Given the description of an element on the screen output the (x, y) to click on. 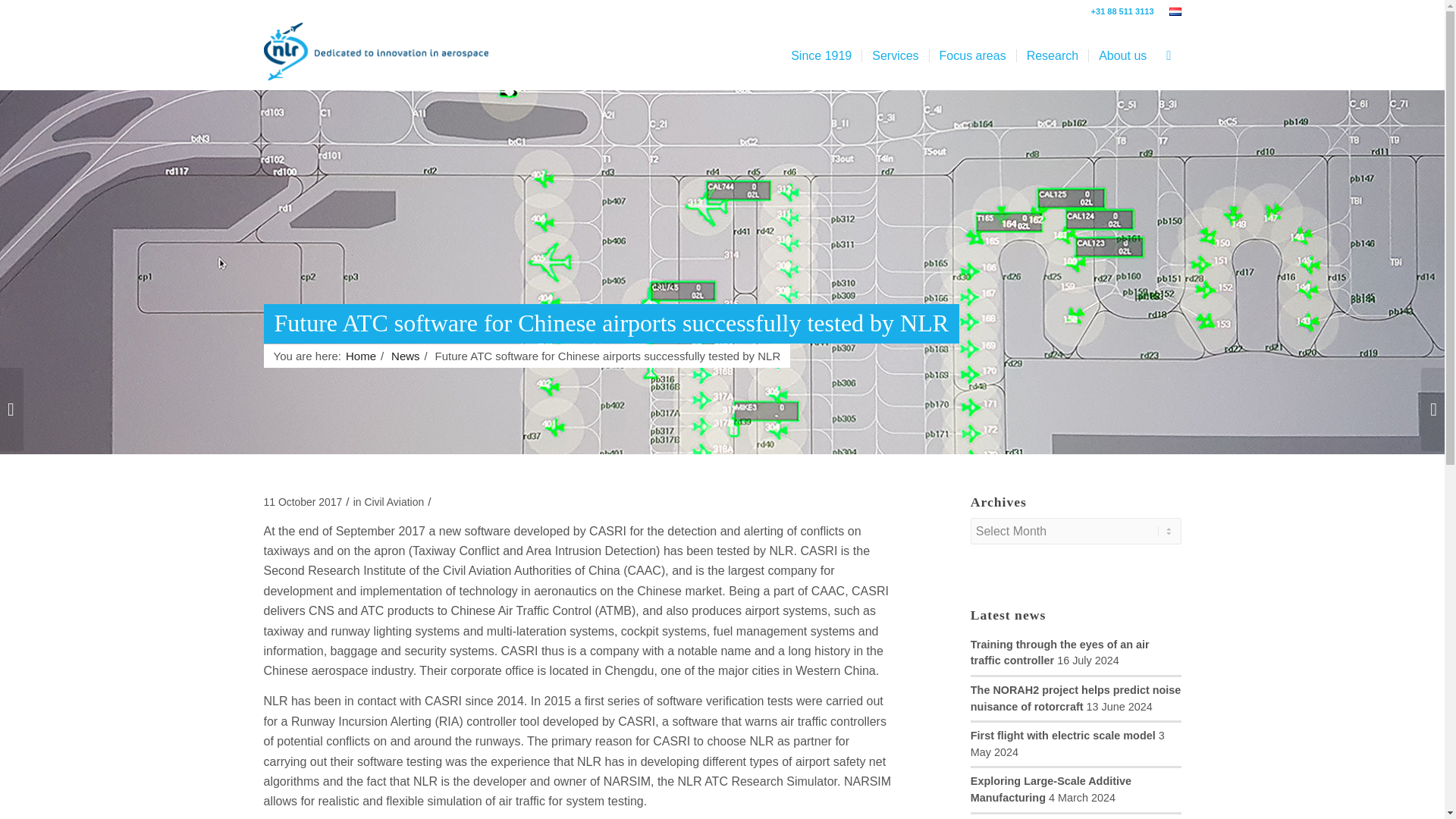
Since 1919 (820, 55)
Royal Netherlands Aerospace Centre (360, 355)
Focus areas (972, 55)
News (405, 355)
Services (894, 55)
